Given the description of an element on the screen output the (x, y) to click on. 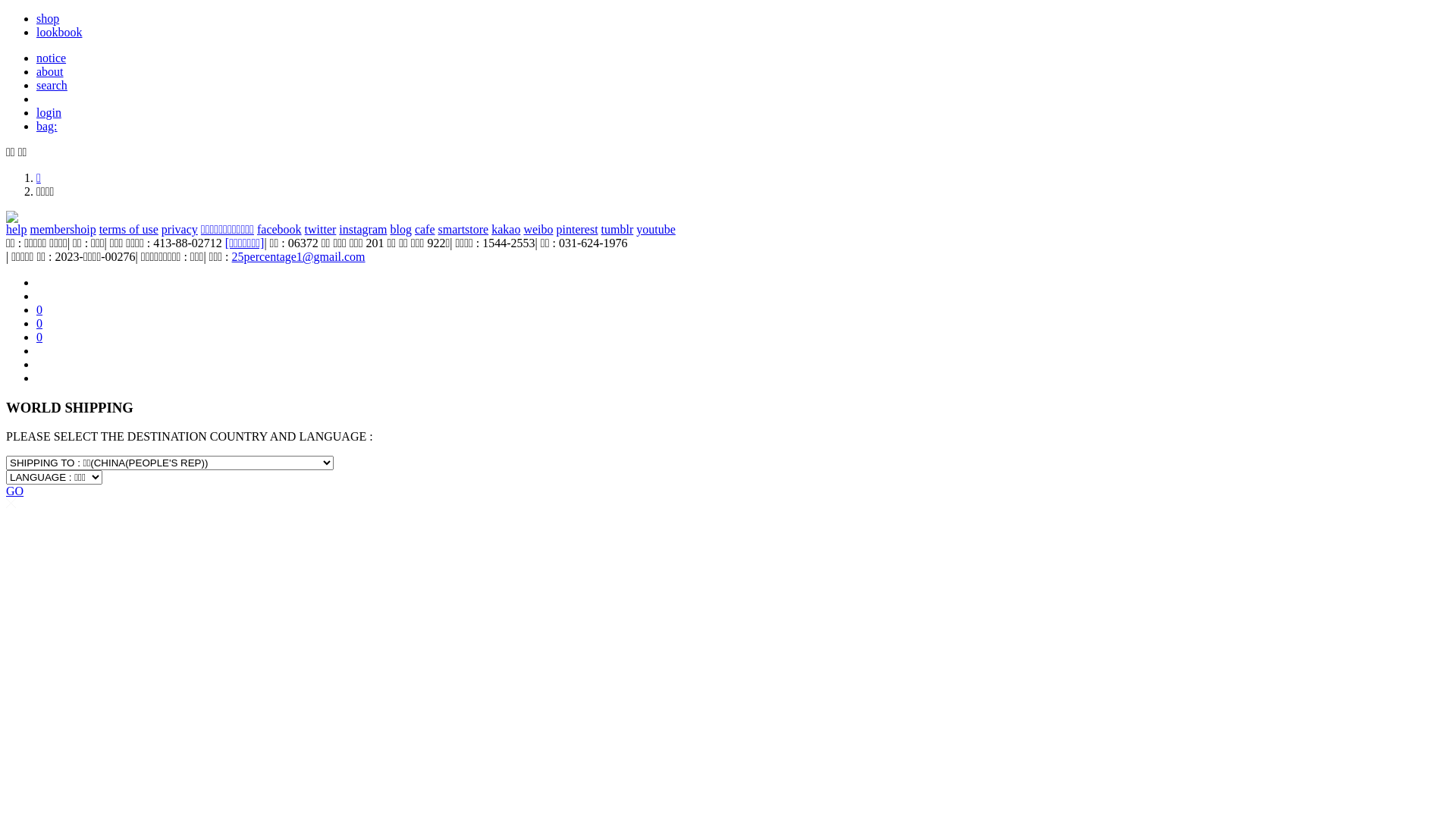
youtube Element type: text (655, 228)
kakao Element type: text (505, 228)
0 Element type: text (39, 322)
pinterest Element type: text (577, 228)
blog Element type: text (400, 228)
login Element type: text (48, 112)
about Element type: text (49, 71)
0 Element type: text (39, 336)
terms of use Element type: text (128, 228)
privacy Element type: text (179, 228)
shop Element type: text (47, 18)
bag: Element type: text (46, 125)
search Element type: text (51, 84)
GO Element type: text (14, 490)
notice Element type: text (50, 57)
smartstore Element type: text (463, 228)
25percentage1@gmail.com Element type: text (298, 256)
membershoip Element type: text (63, 228)
cafe Element type: text (424, 228)
0 Element type: text (39, 309)
twitter Element type: text (320, 228)
help Element type: text (16, 228)
tumblr Element type: text (617, 228)
instagram Element type: text (362, 228)
lookbook Element type: text (58, 31)
facebook Element type: text (279, 228)
weibo Element type: text (537, 228)
